Given the description of an element on the screen output the (x, y) to click on. 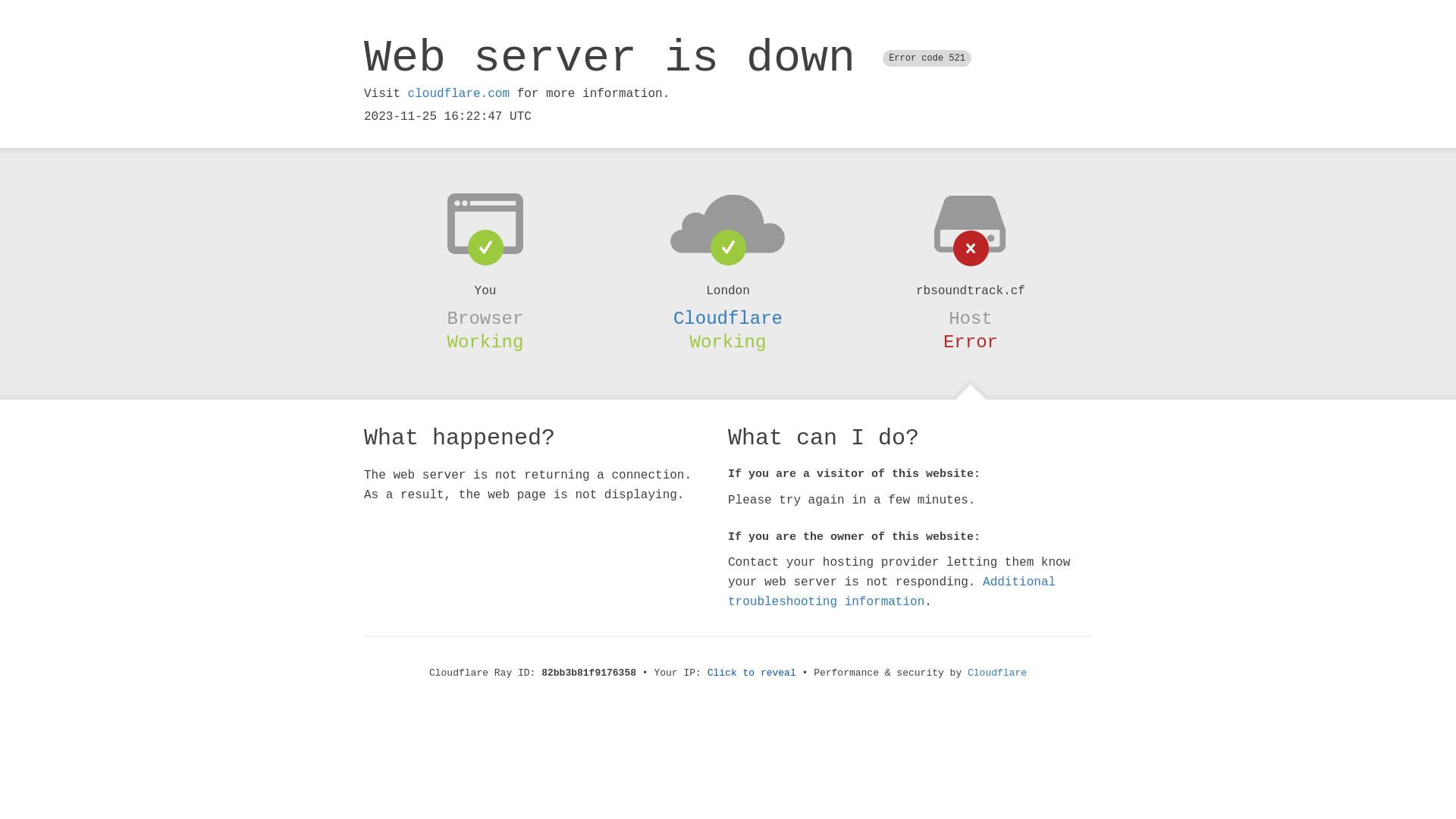
Click to reveal Element type: text (751, 672)
Cloudflare Element type: text (727, 318)
Additional troubleshooting information Element type: text (891, 591)
cloudflare.com Element type: text (458, 93)
Cloudflare Element type: text (996, 672)
